Given the description of an element on the screen output the (x, y) to click on. 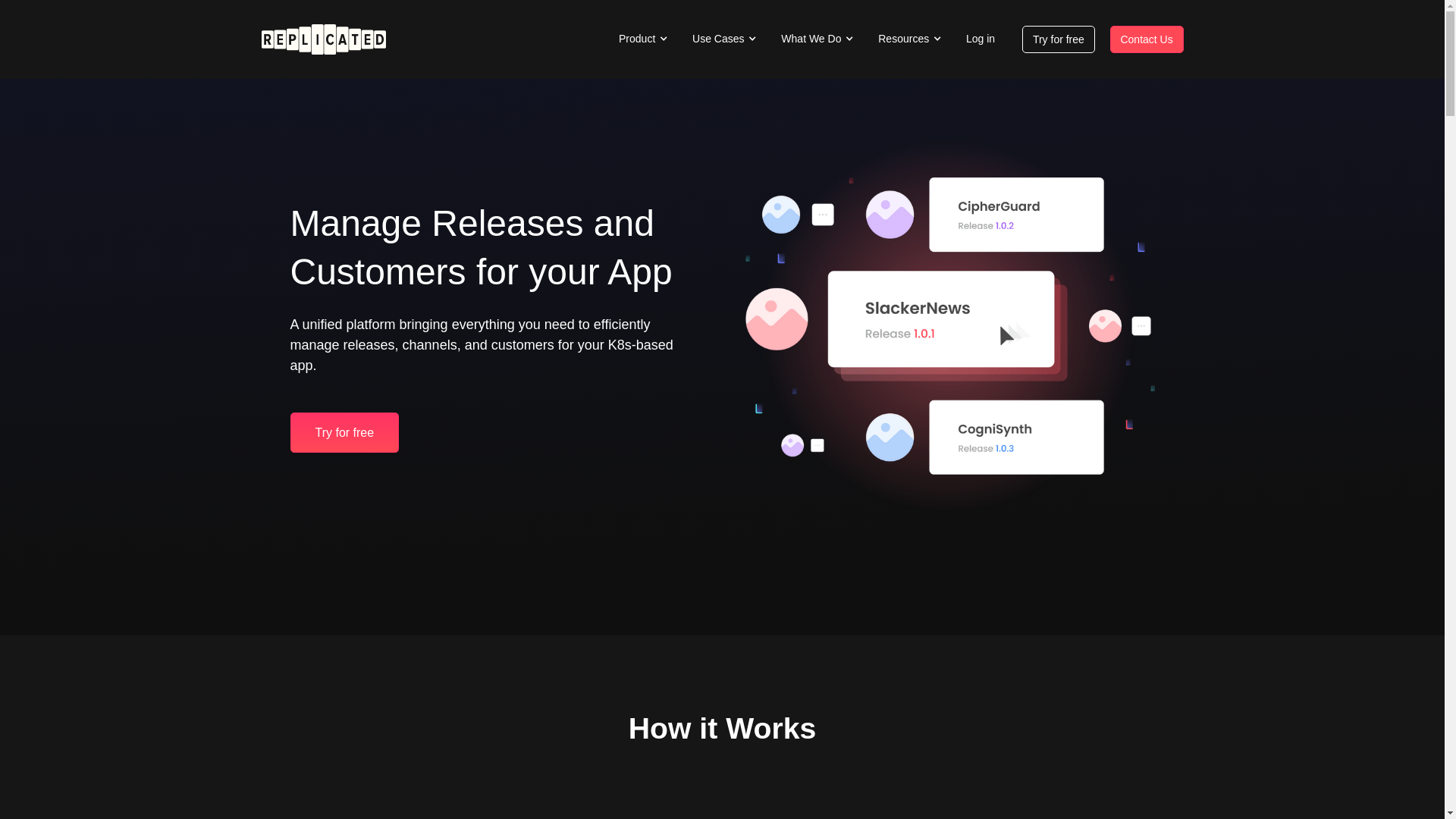
Contact Us (1146, 39)
Log in (980, 38)
Try for free (1058, 39)
Try for free (343, 432)
